Given the description of an element on the screen output the (x, y) to click on. 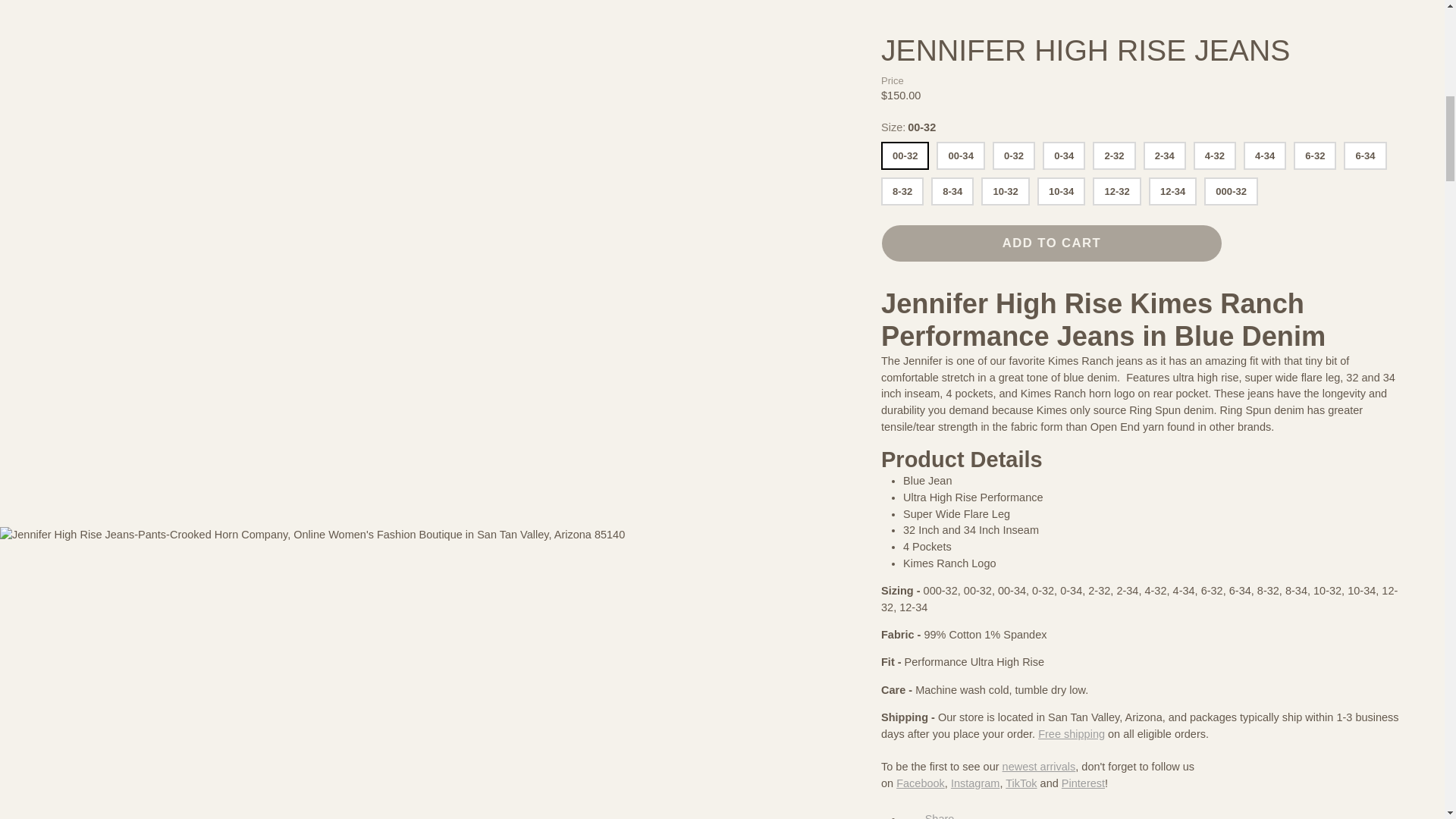
Instagram (974, 57)
newest arrivals (1039, 40)
Free shipping (1071, 8)
TikTok (1021, 57)
Facebook (920, 57)
